Given the description of an element on the screen output the (x, y) to click on. 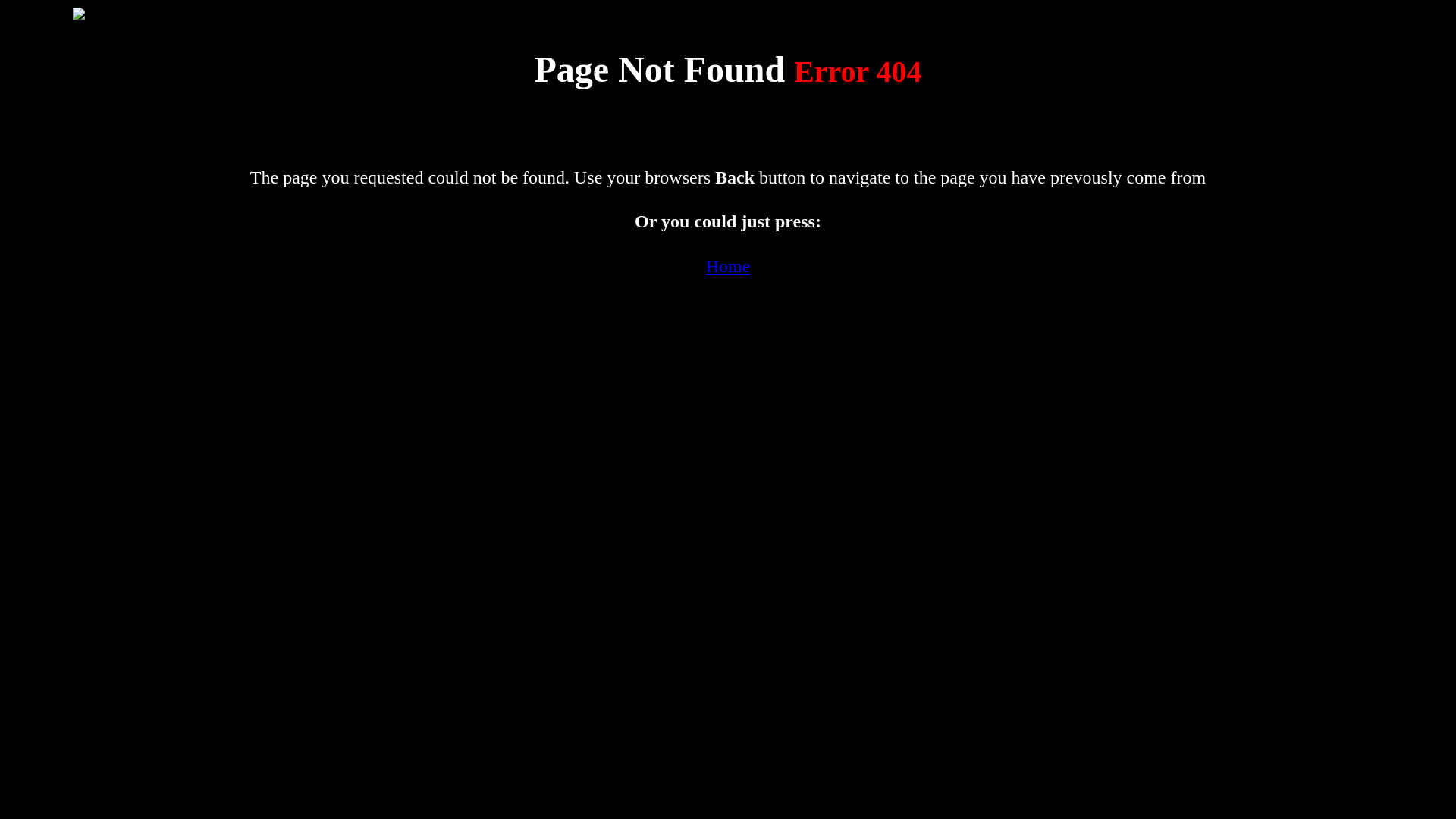
Home Element type: text (728, 266)
